Given the description of an element on the screen output the (x, y) to click on. 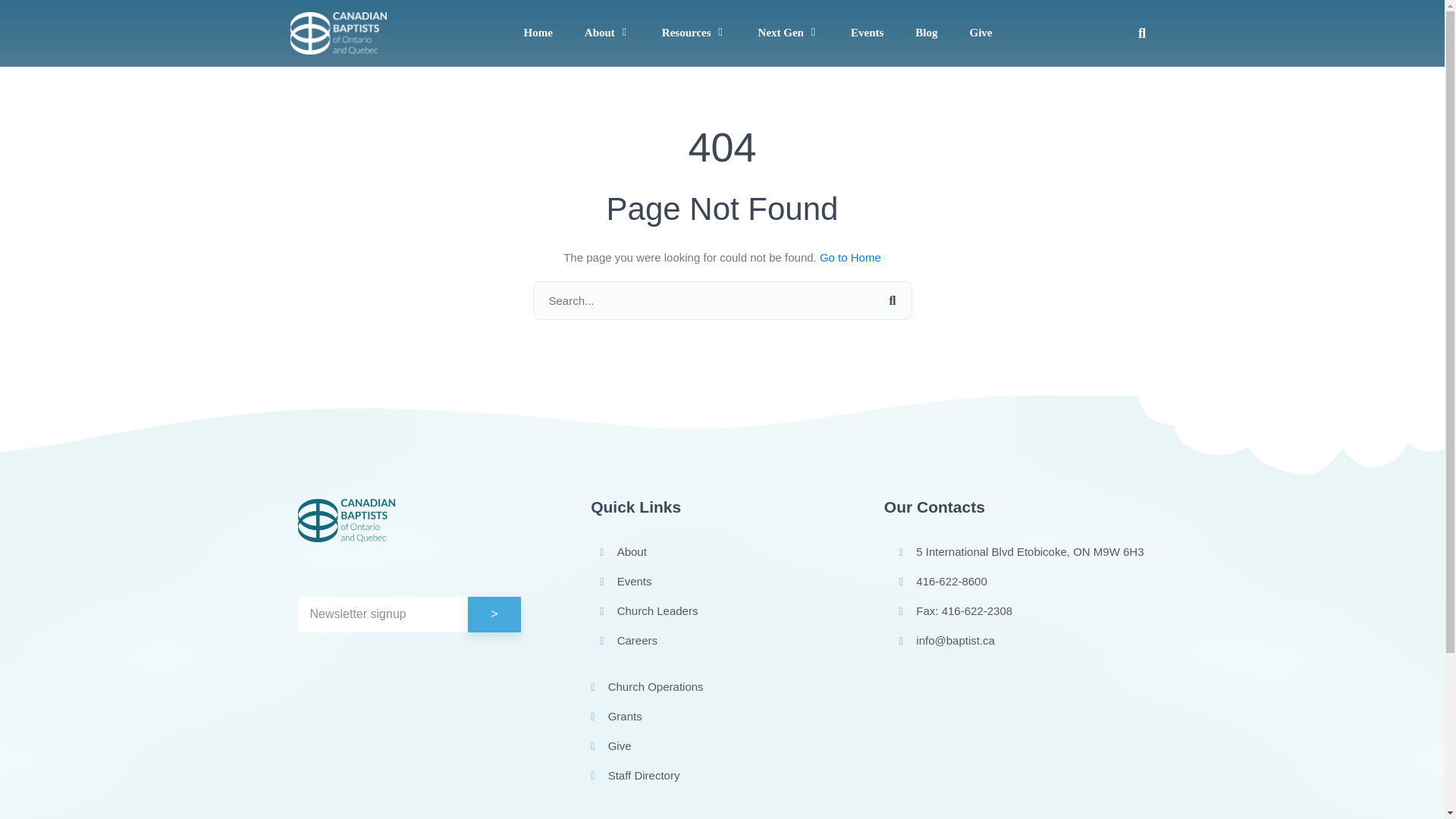
Home (536, 32)
Events (866, 32)
Blog (926, 32)
About (599, 32)
Next Gen (780, 32)
Give (980, 32)
Resources (686, 32)
